Given the description of an element on the screen output the (x, y) to click on. 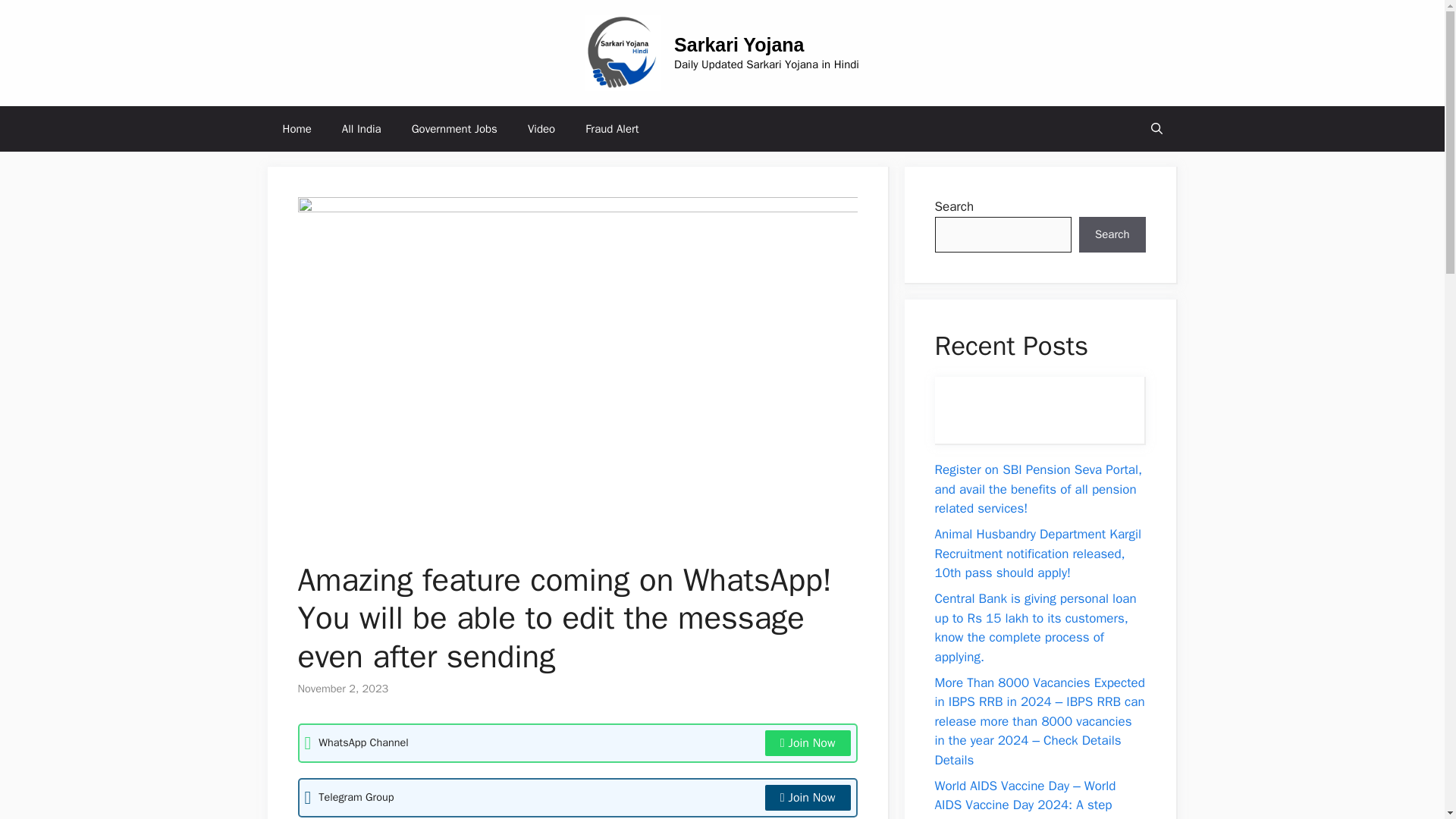
Join Now (807, 797)
Fraud Alert (611, 128)
Video (541, 128)
Home (296, 128)
Search (1111, 235)
Sarkari Yojana (738, 44)
Government Jobs (454, 128)
Join Now (807, 742)
